Given the description of an element on the screen output the (x, y) to click on. 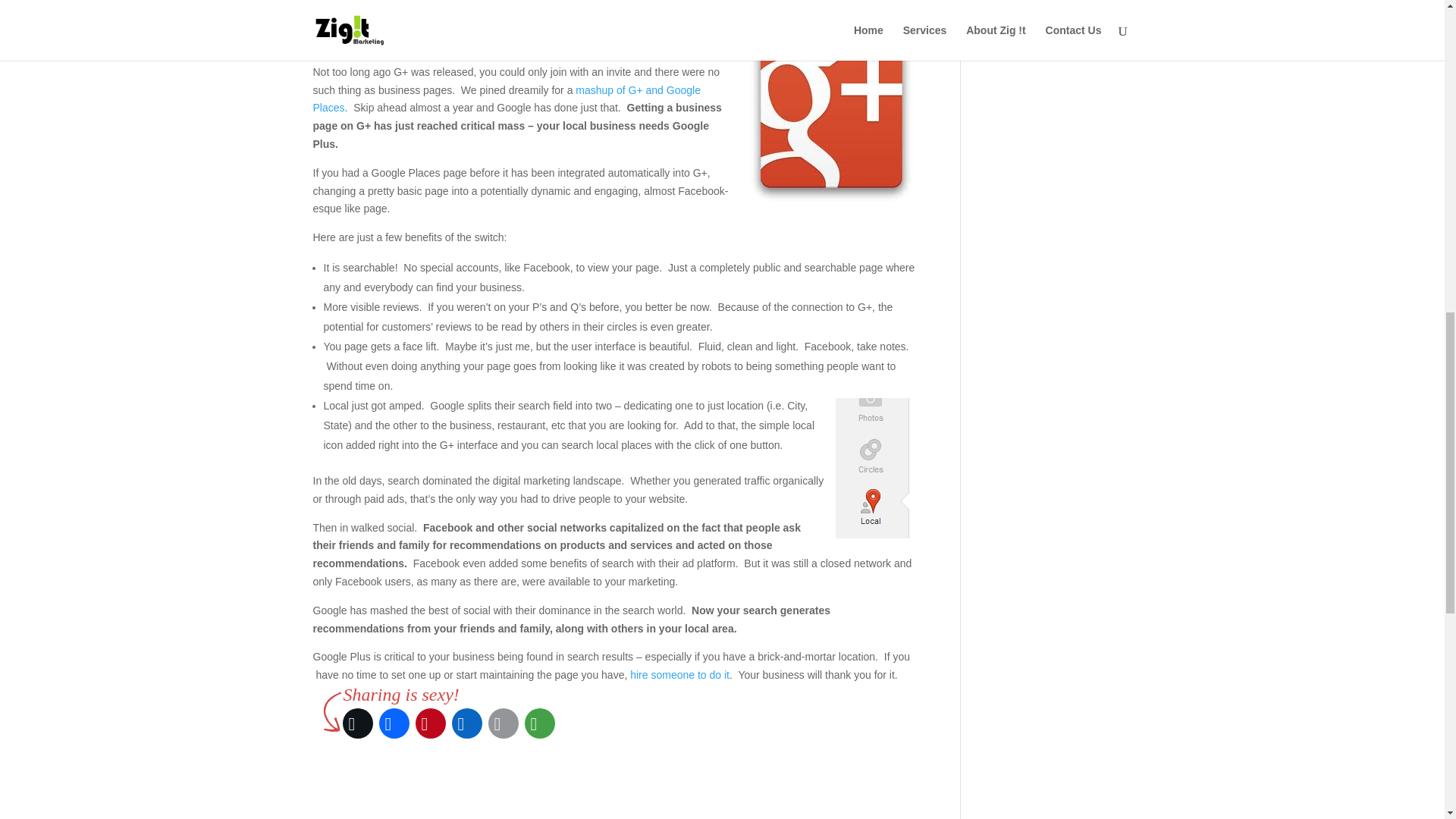
Email This (518, 5)
Pinterest (459, 5)
hire someone to do it (679, 674)
LinkedIn (578, 5)
LinkedIn (466, 723)
Facebook (400, 5)
More Options (637, 5)
Pinterest (430, 723)
Zig !t Marketing (679, 674)
Facebook (393, 723)
google-plus (830, 120)
